Given the description of an element on the screen output the (x, y) to click on. 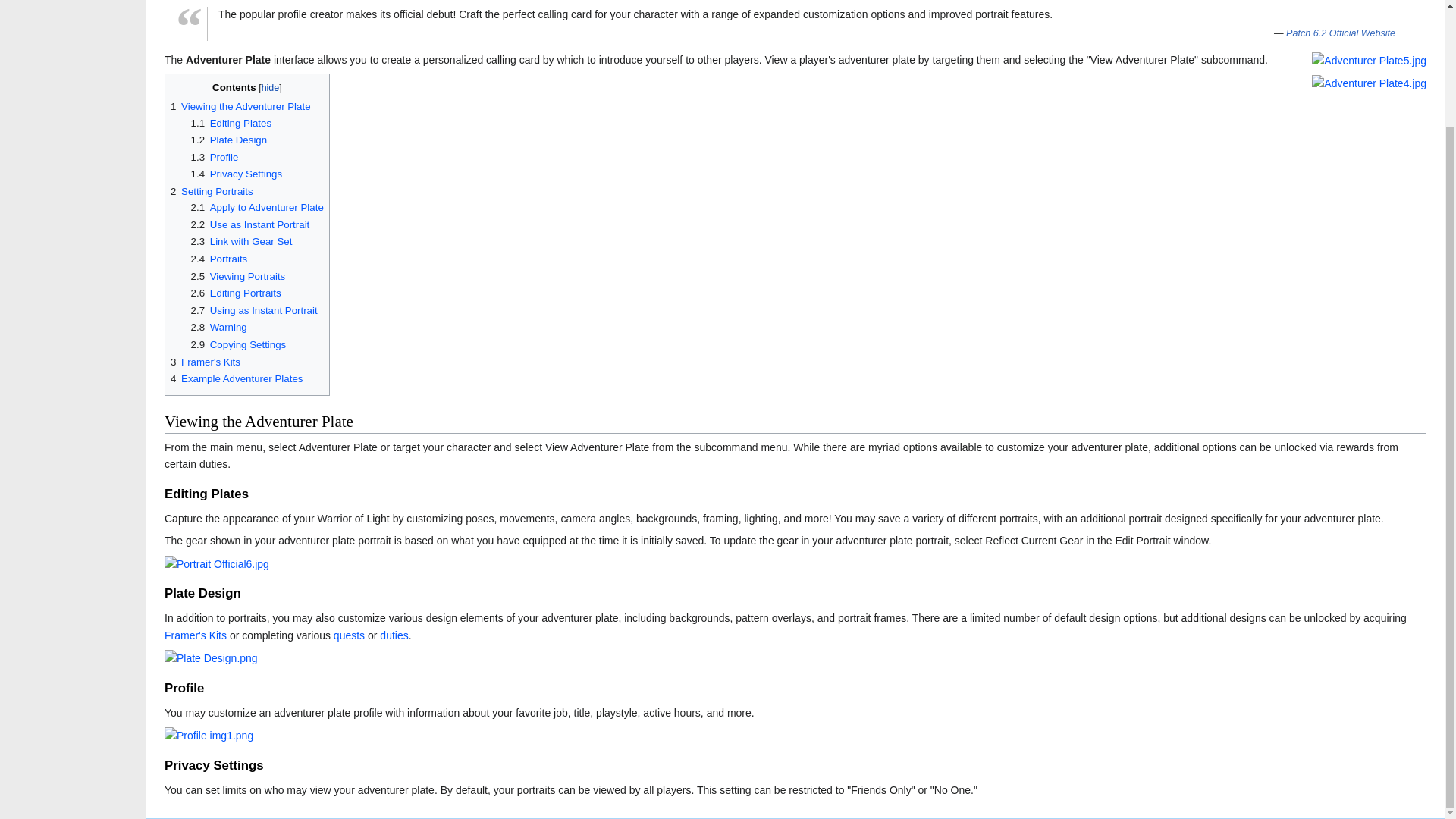
1.3 Profile (214, 156)
quests (349, 635)
2.7 Using as Instant Portrait (253, 310)
Patch 6.2 Official Website (1345, 32)
1.2 Plate Design (228, 139)
2 Setting Portraits (211, 191)
Duties (393, 635)
1.4 Privacy Settings (236, 173)
Adventurer Plate (228, 60)
2.9 Copying Settings (238, 344)
4 Example Adventurer Plates (236, 378)
2.4 Portraits (218, 258)
Framer's Kits (195, 635)
duties (393, 635)
1 Viewing the Adventurer Plate (240, 106)
